Given the description of an element on the screen output the (x, y) to click on. 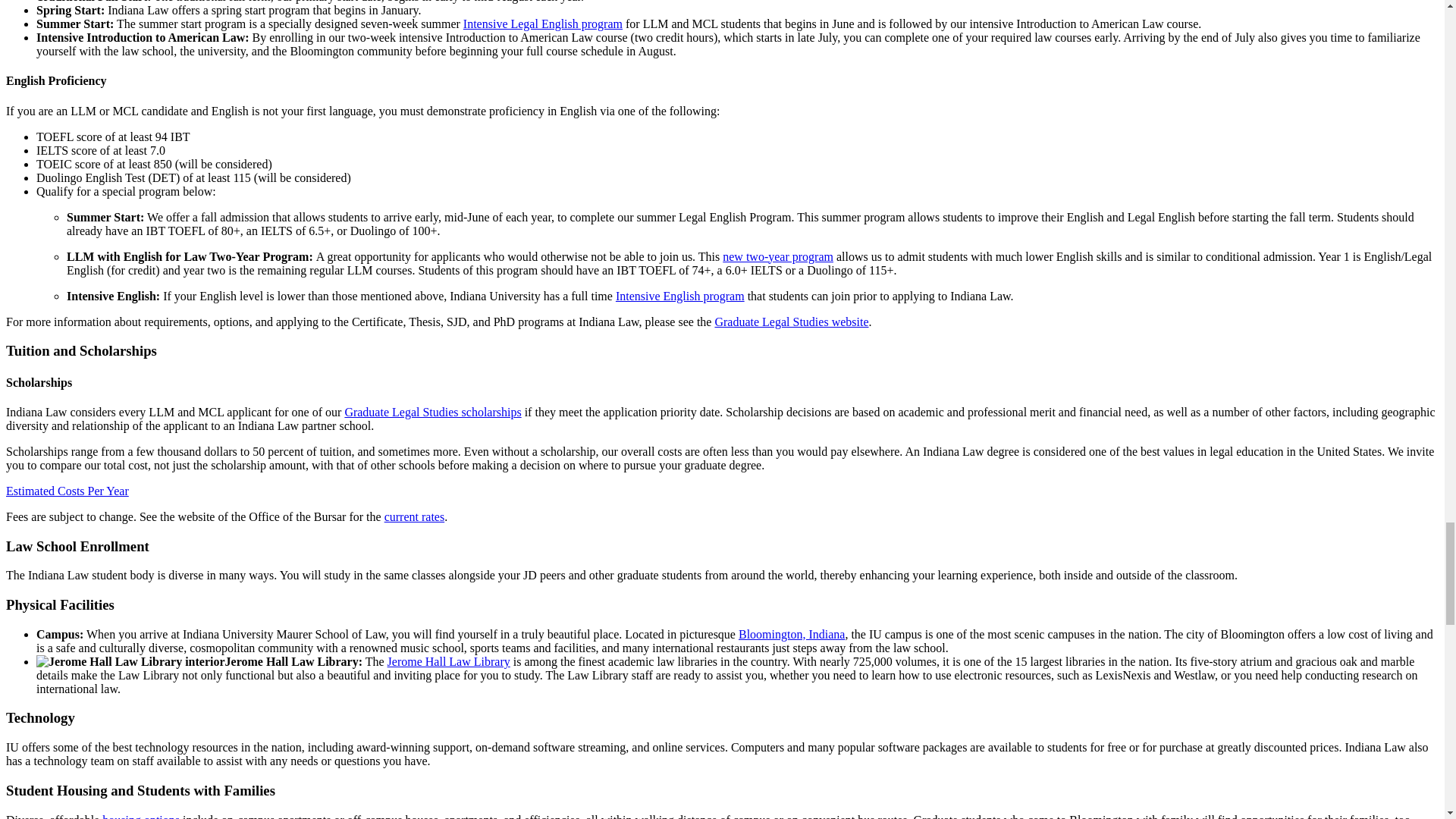
Intensive Legal English program (543, 23)
Graduate Legal Studies website (790, 321)
